Given the description of an element on the screen output the (x, y) to click on. 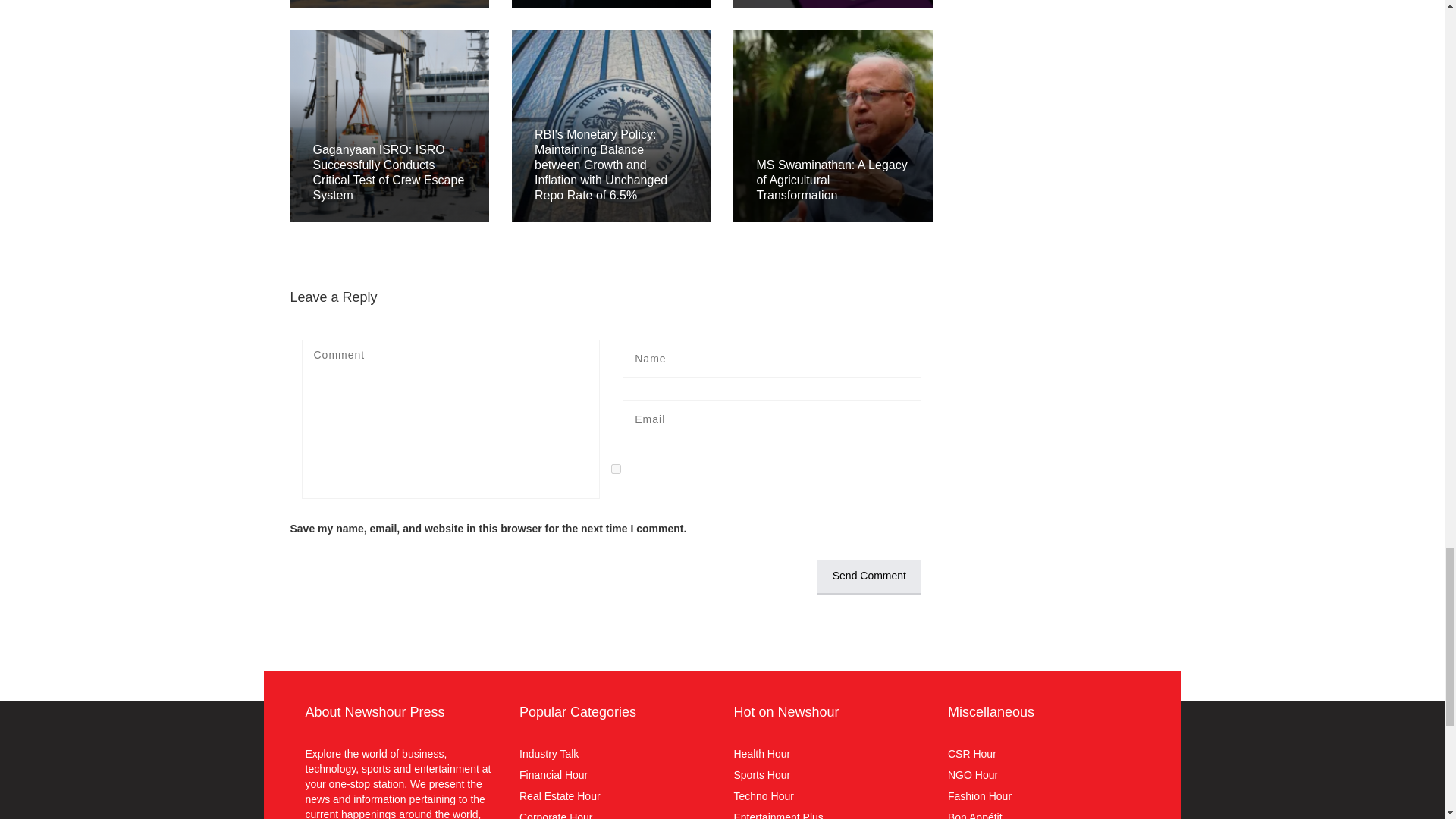
yes (616, 469)
Send Comment (868, 577)
